Given the description of an element on the screen output the (x, y) to click on. 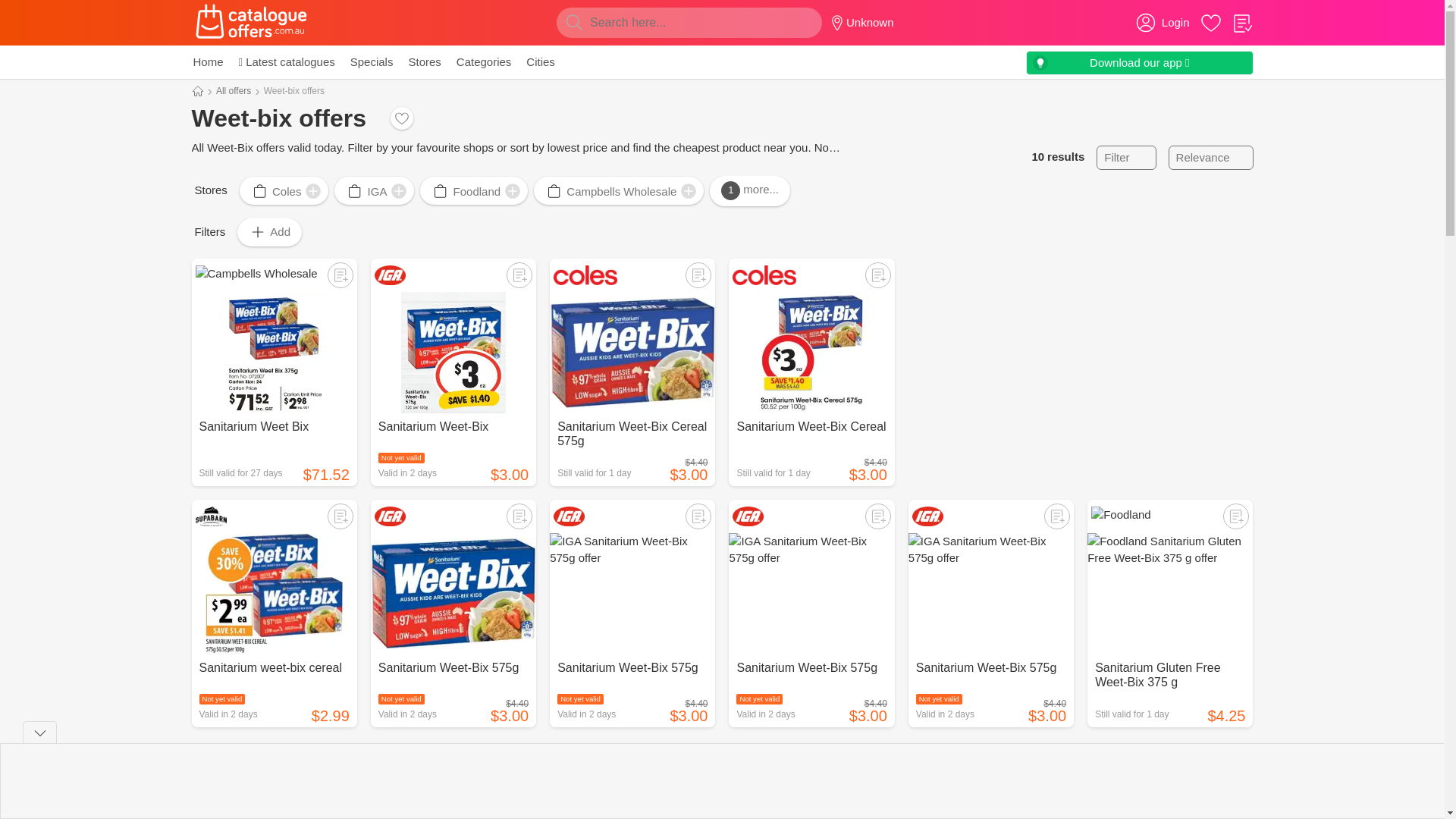
Categories (483, 61)
Cities (540, 61)
Specials (371, 61)
Home (207, 61)
Stores (424, 61)
All offers (232, 90)
